Given the description of an element on the screen output the (x, y) to click on. 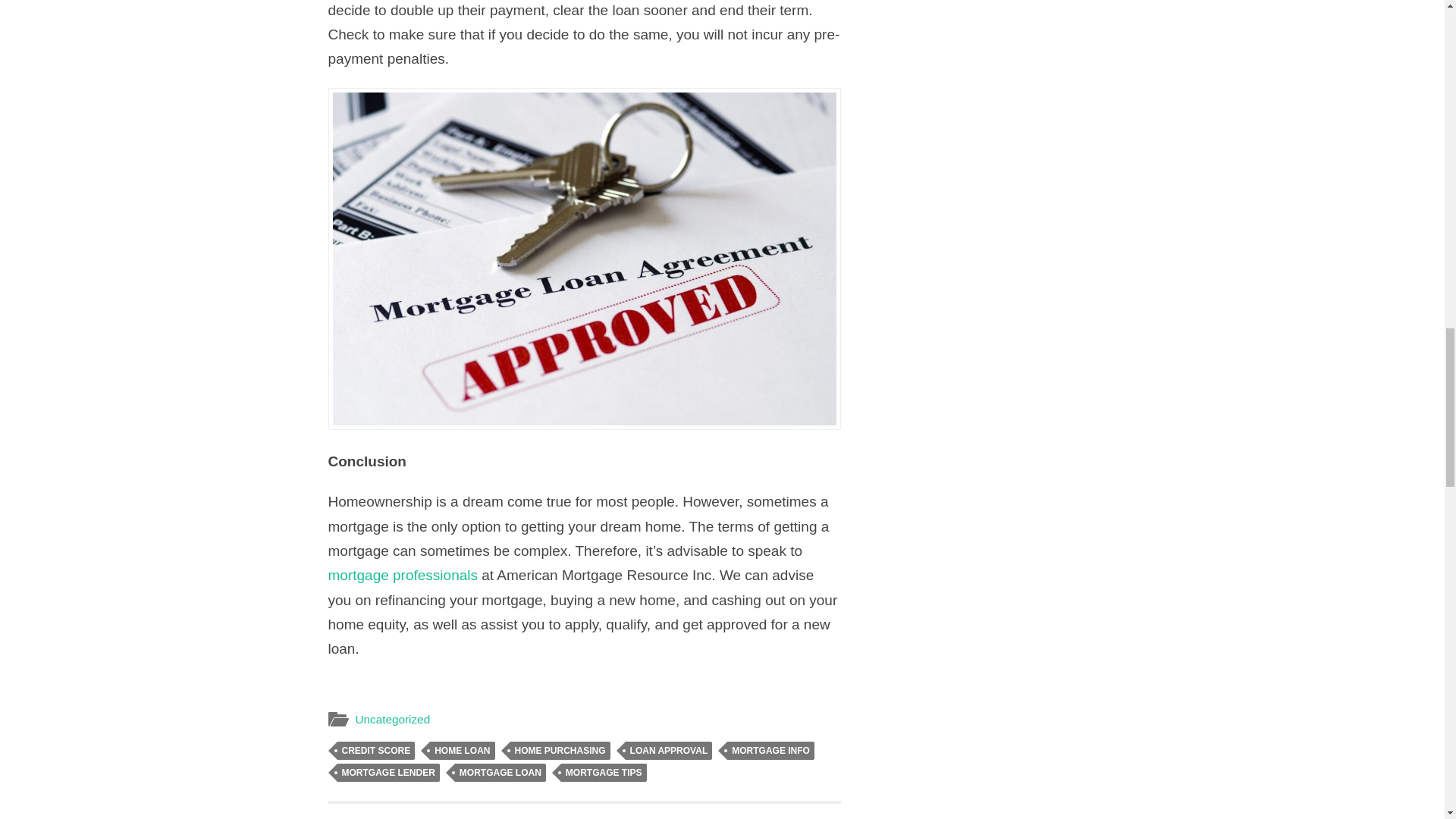
Uncategorized (392, 718)
LOAN APPROVAL (669, 751)
MORTGAGE TIPS (603, 772)
HOME LOAN (462, 751)
HOME PURCHASING (714, 811)
mortgage professionals (560, 751)
MORTGAGE LOAN (402, 575)
CREDIT SCORE (500, 772)
MORTGAGE INFO (375, 751)
MORTGAGE LENDER (769, 751)
